Given the description of an element on the screen output the (x, y) to click on. 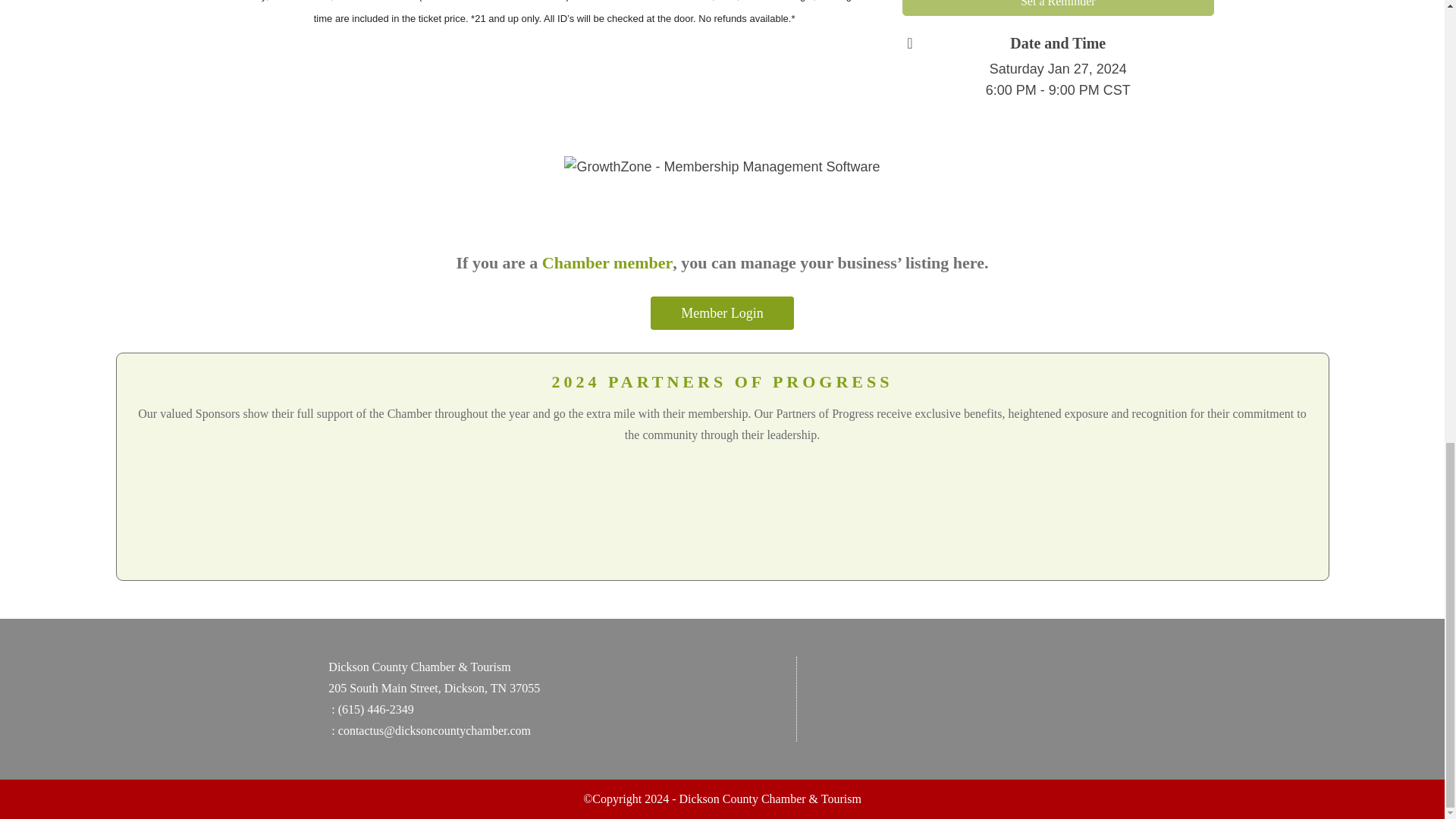
Set a Reminder (1058, 7)
